Given the description of an element on the screen output the (x, y) to click on. 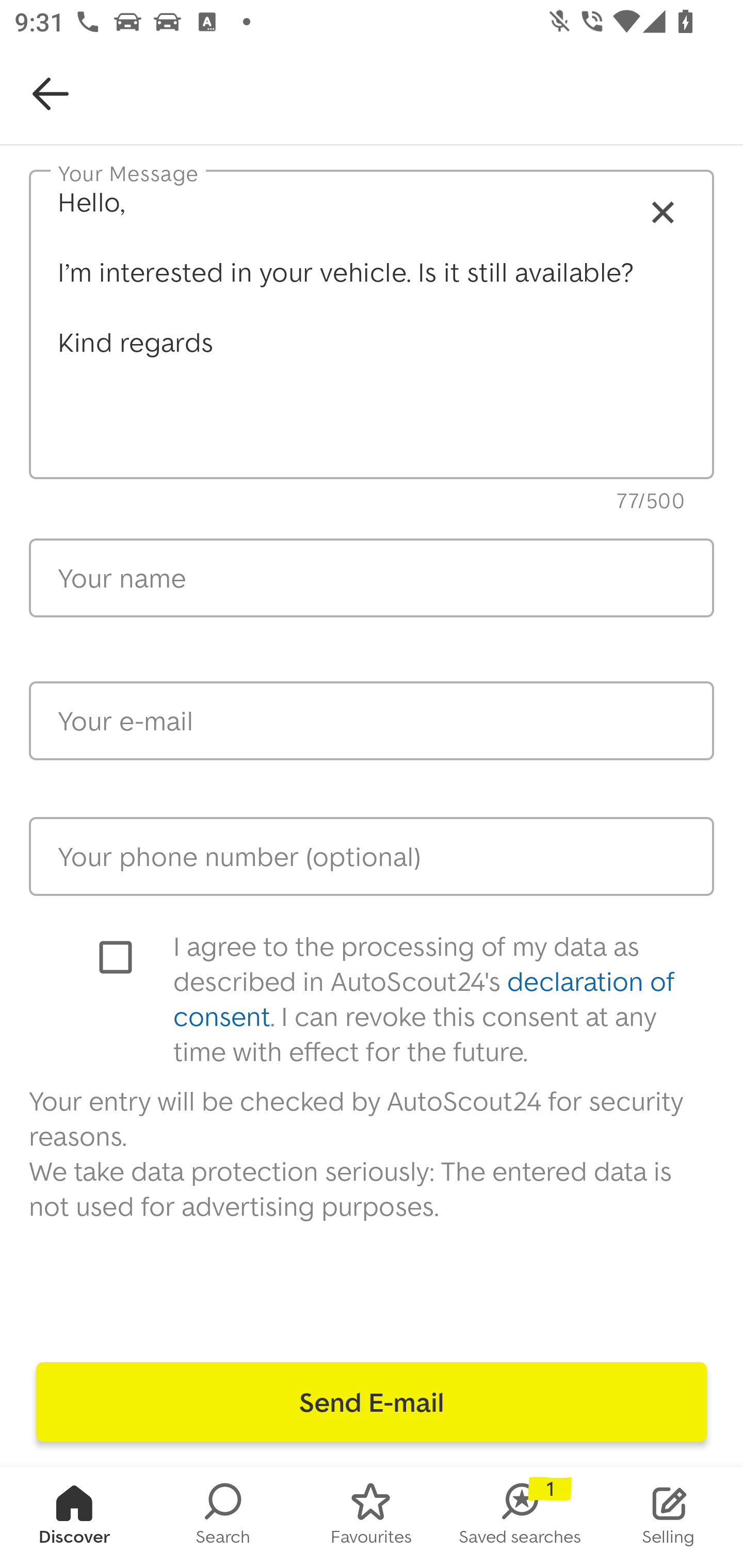
Navigate up (50, 93)
Your name (371, 577)
Your e-mail (371, 721)
Your phone number (optional) (371, 855)
Send E-mail (371, 1401)
HOMESCREEN Discover (74, 1517)
SEARCH Search (222, 1517)
FAVORITES Favourites (371, 1517)
SAVED_SEARCHES Saved searches 1 (519, 1517)
STOCK_LIST Selling (668, 1517)
